Given the description of an element on the screen output the (x, y) to click on. 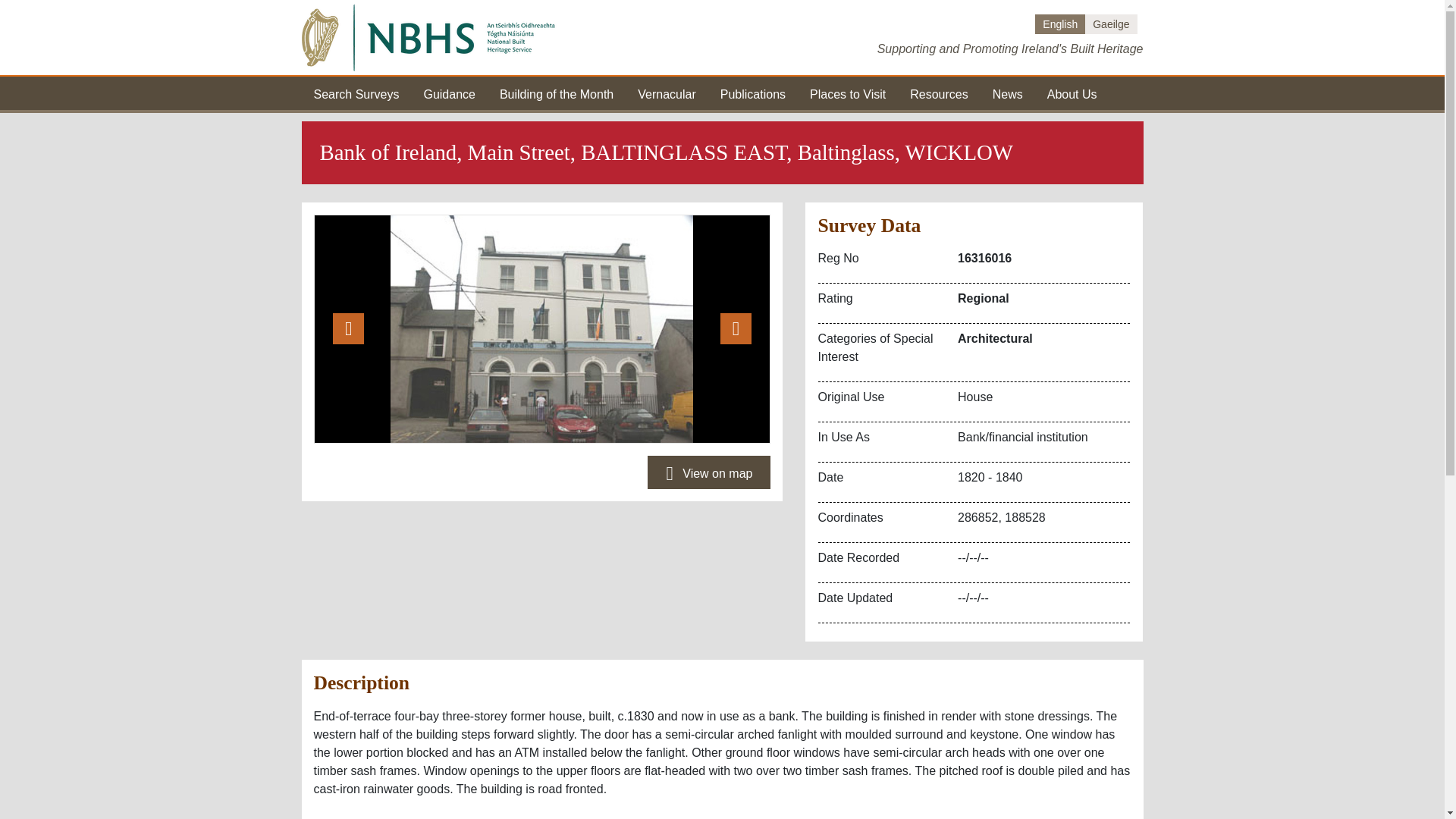
Building of the Month (555, 92)
Gaeilge (1110, 24)
Publications (753, 92)
View on map (708, 471)
Places to Visit (847, 92)
Guidance (449, 92)
Resources (939, 92)
English (1059, 24)
Search Surveys (356, 92)
About Us (1071, 92)
Vernacular (666, 92)
News (1007, 92)
